Given the description of an element on the screen output the (x, y) to click on. 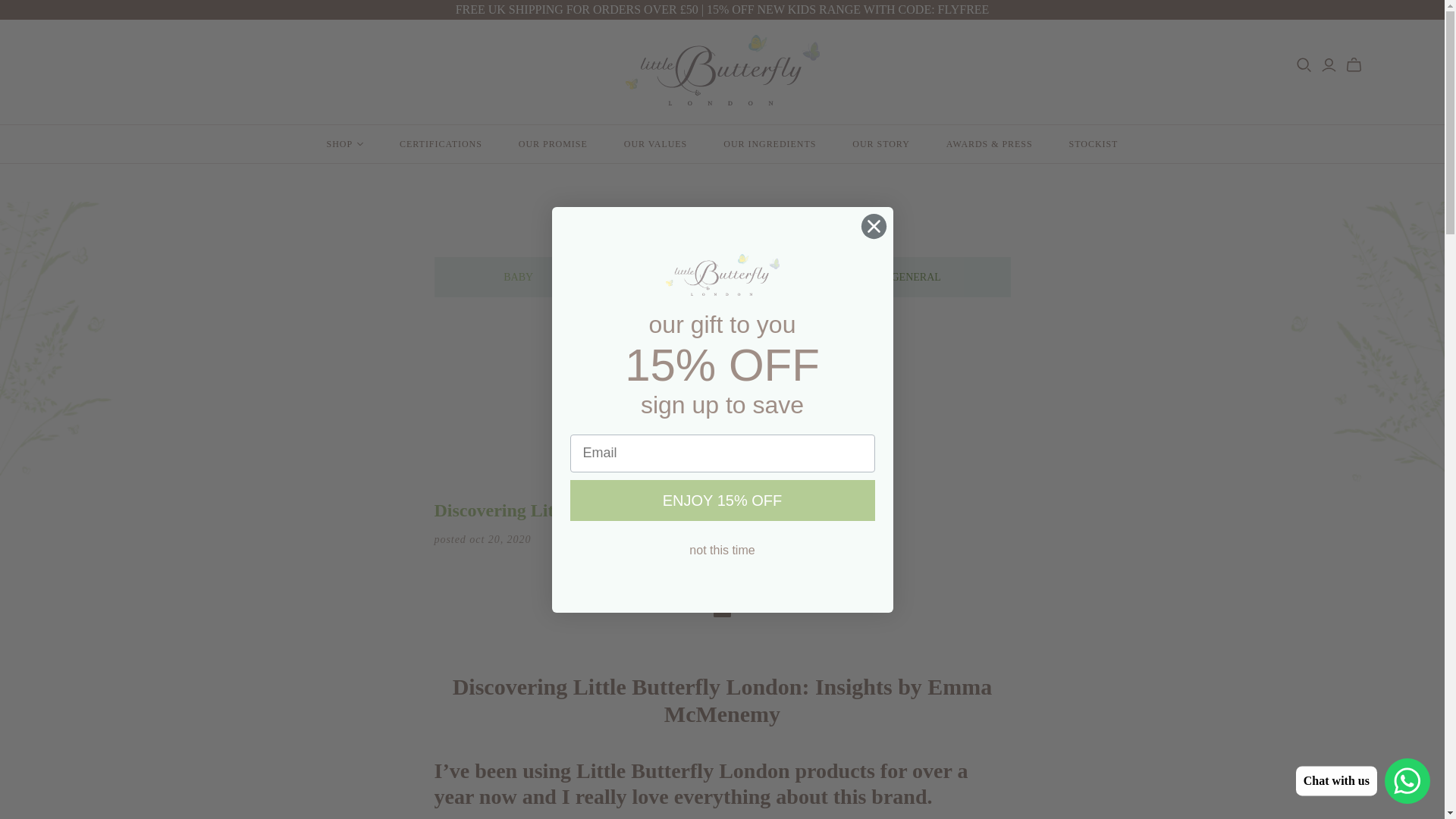
SHOP (344, 143)
CERTIFICATIONS (440, 143)
OUR VALUES (655, 143)
OUR PROMISE (552, 143)
OUR INGREDIENTS (769, 143)
STOCKIST (1094, 143)
OUR STORY (880, 143)
